Given the description of an element on the screen output the (x, y) to click on. 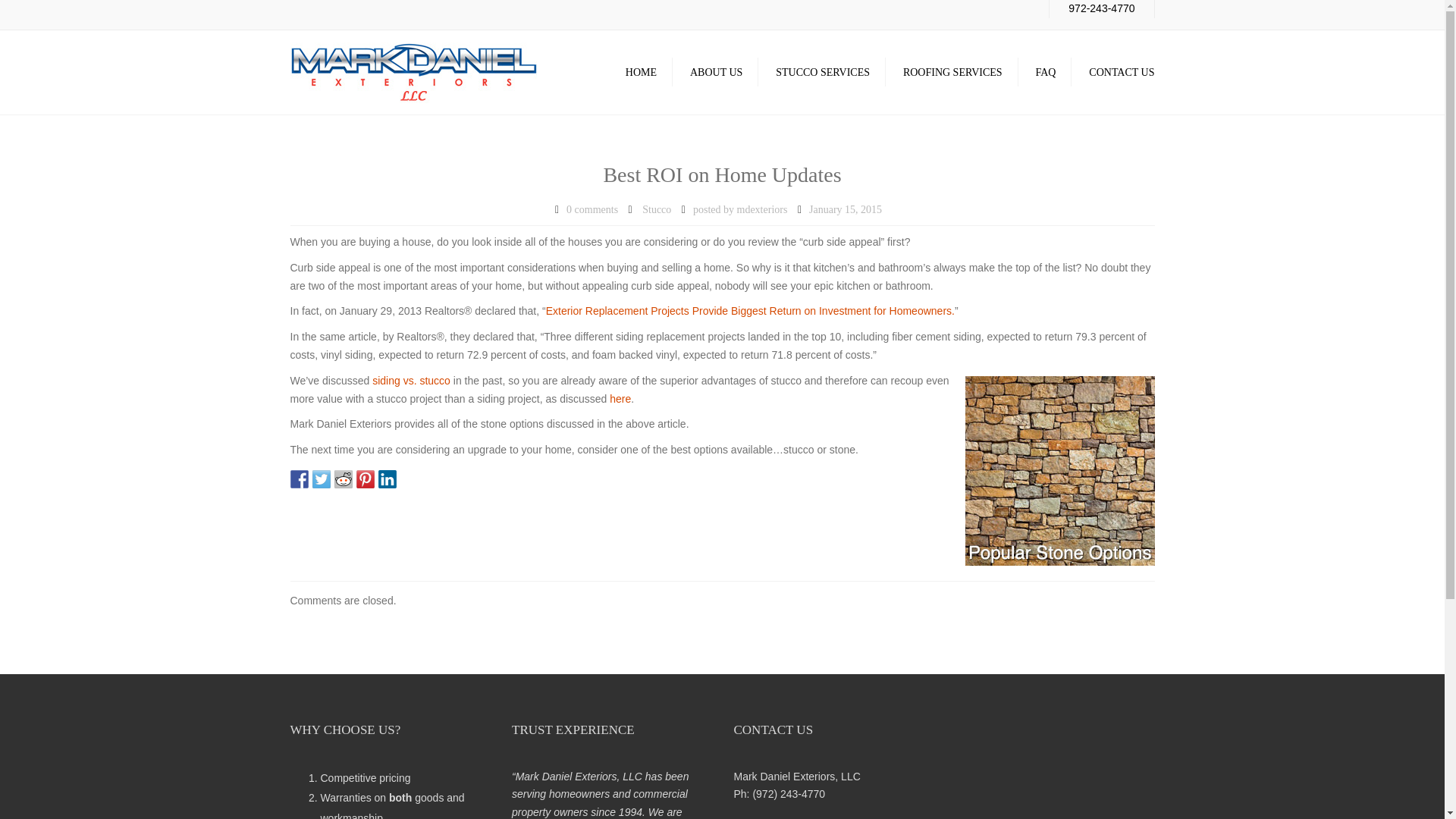
Share on Facebook (298, 479)
Best home improvement ROI (750, 310)
HOME (640, 72)
972-243-4770 (1101, 8)
Dallas Stucco Contractor (640, 72)
Roofing Services (952, 72)
Stucco (656, 209)
here (620, 398)
0 comments (591, 209)
Share on Twitter (321, 479)
ABOUT US (715, 72)
siding vs. stucco (410, 380)
FAQ (1045, 72)
CONTACT US (1121, 72)
Stucco for the win (620, 398)
